Given the description of an element on the screen output the (x, y) to click on. 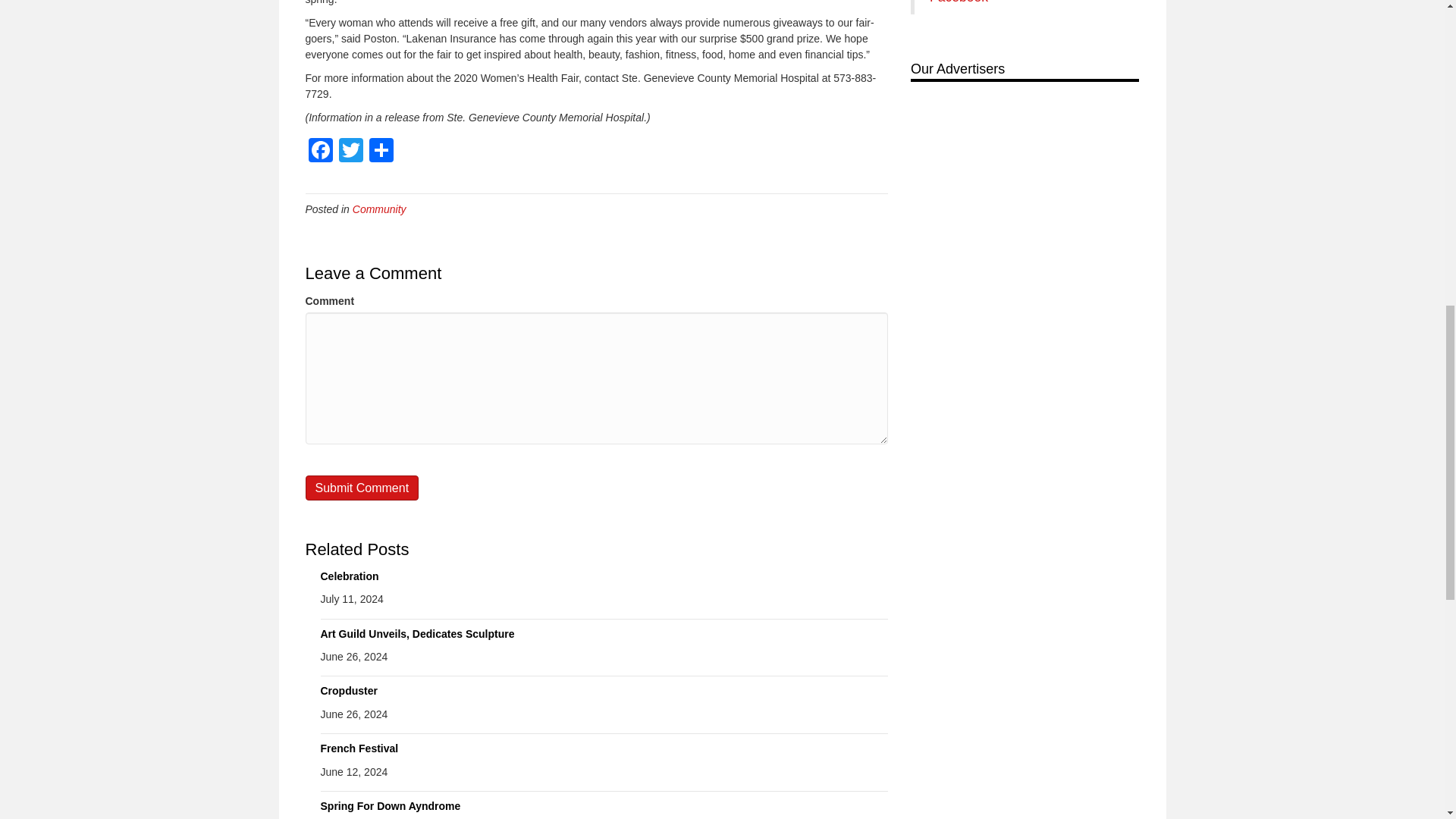
Submit Comment (361, 487)
Cropduster (348, 690)
Spring For Down Ayndrome (390, 806)
Art Guild Unveils, Dedicates Sculpture (416, 633)
Celebration (349, 576)
French Festival (358, 748)
Facebook (319, 152)
Twitter (349, 152)
